Given the description of an element on the screen output the (x, y) to click on. 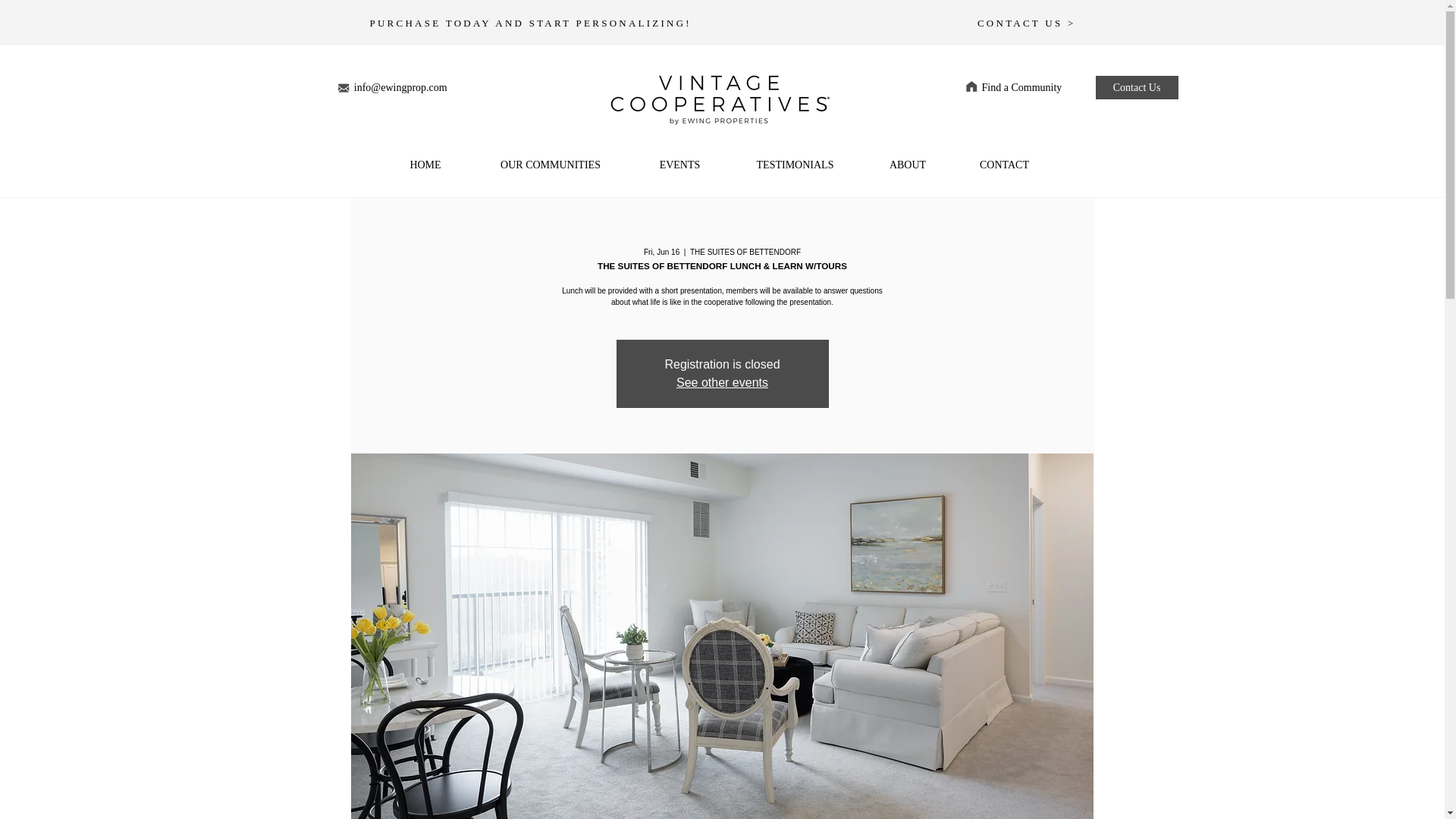
Find a Community (1031, 87)
HOME (424, 165)
CONTACT (1003, 165)
OUR COMMUNITIES (549, 165)
EVENTS (679, 165)
See other events (722, 382)
Contact Us (1136, 87)
TESTIMONIALS (795, 165)
PURCHASE TODAY AND START PERSONALIZING! (530, 22)
ABOUT (908, 165)
